Given the description of an element on the screen output the (x, y) to click on. 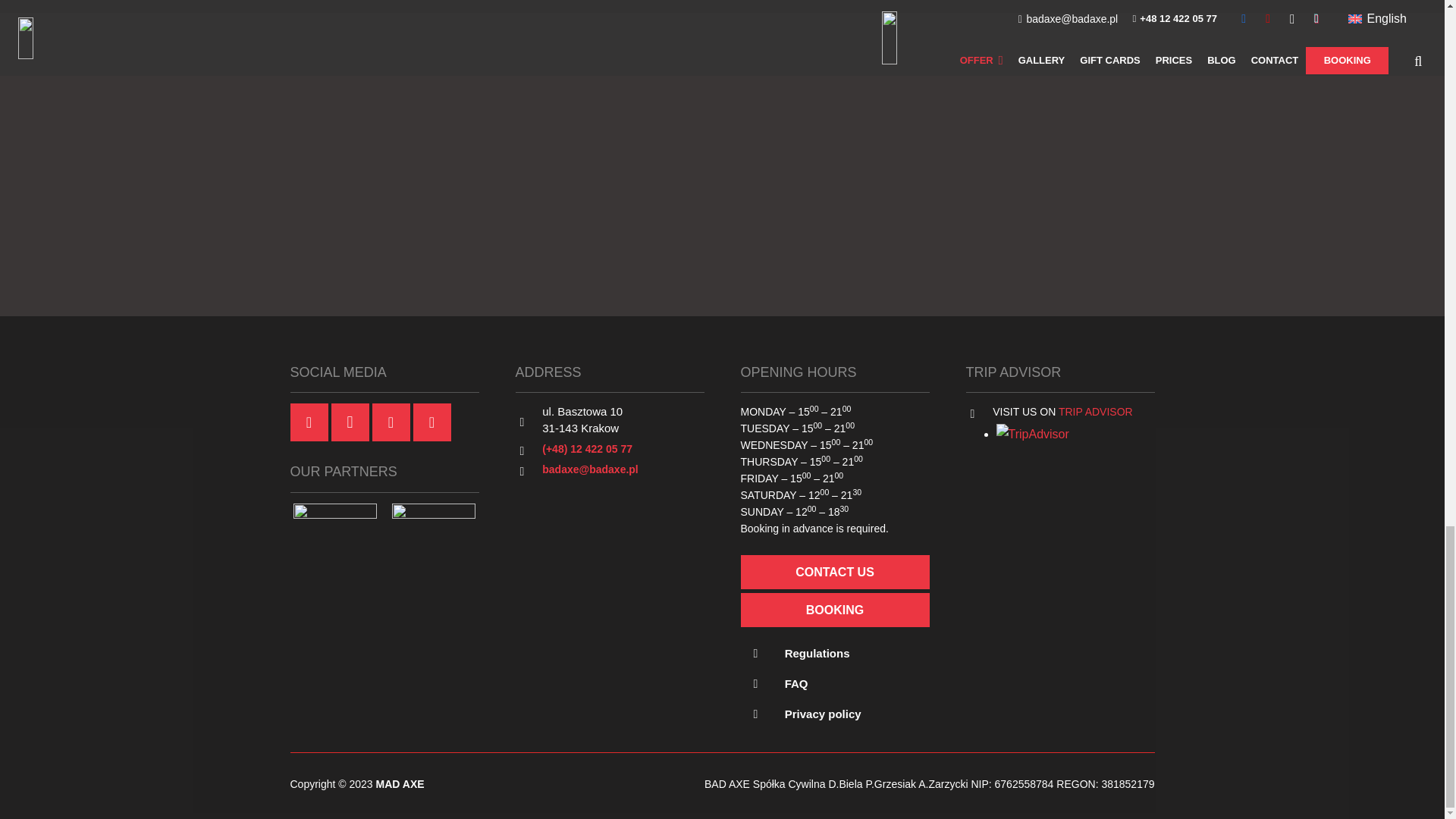
TikTok (430, 422)
Instagram (349, 422)
YouTube (390, 422)
Facebook (308, 422)
